Given the description of an element on the screen output the (x, y) to click on. 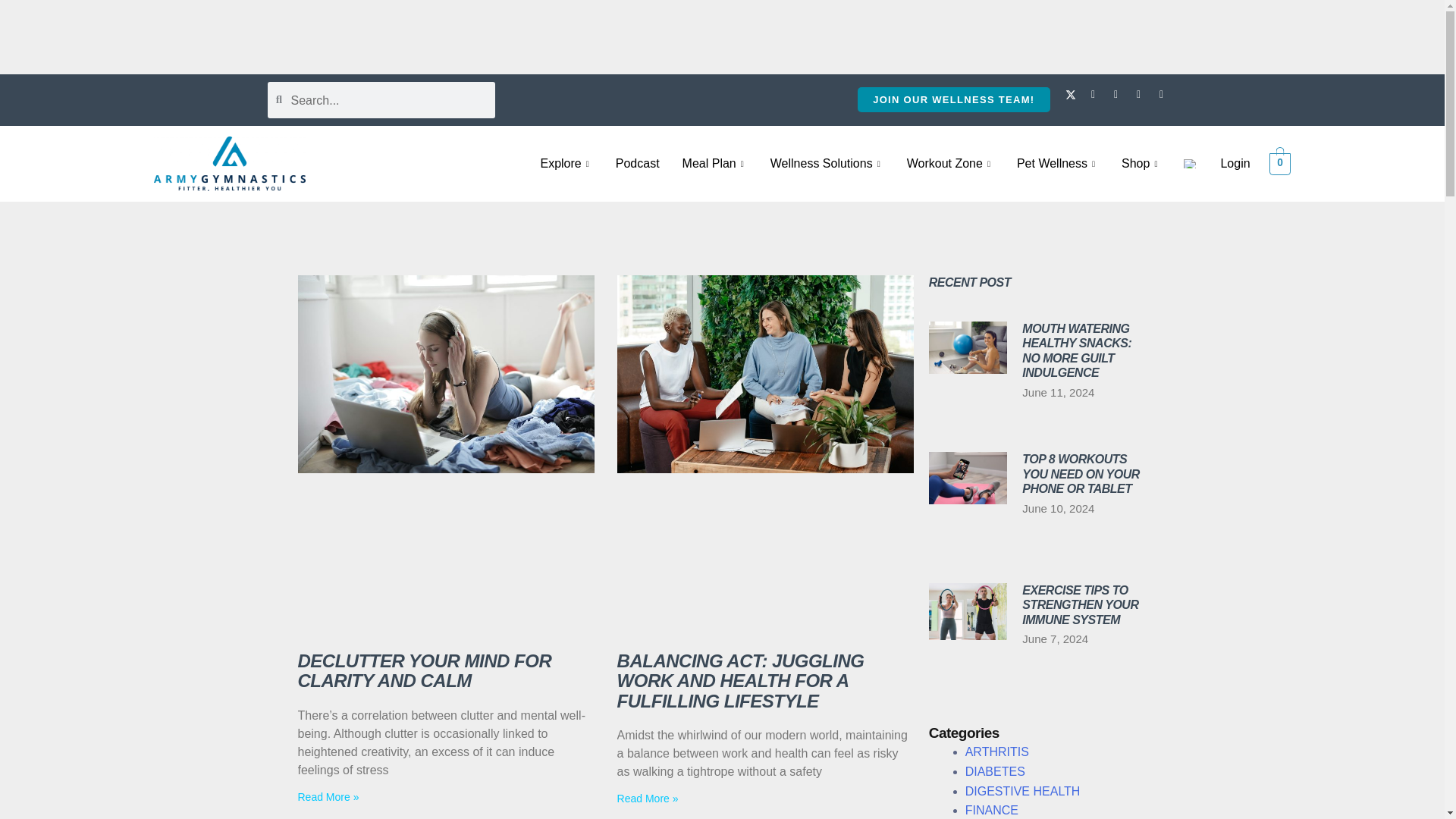
Explore (566, 163)
View your shopping cart (1280, 162)
Wellness Solutions (826, 163)
Pet Wellness (1057, 163)
Meal Plan (714, 163)
JOIN OUR WELLNESS TEAM! (953, 99)
Workout Zone (950, 163)
Podcast (637, 163)
Shop (1140, 163)
